Given the description of an element on the screen output the (x, y) to click on. 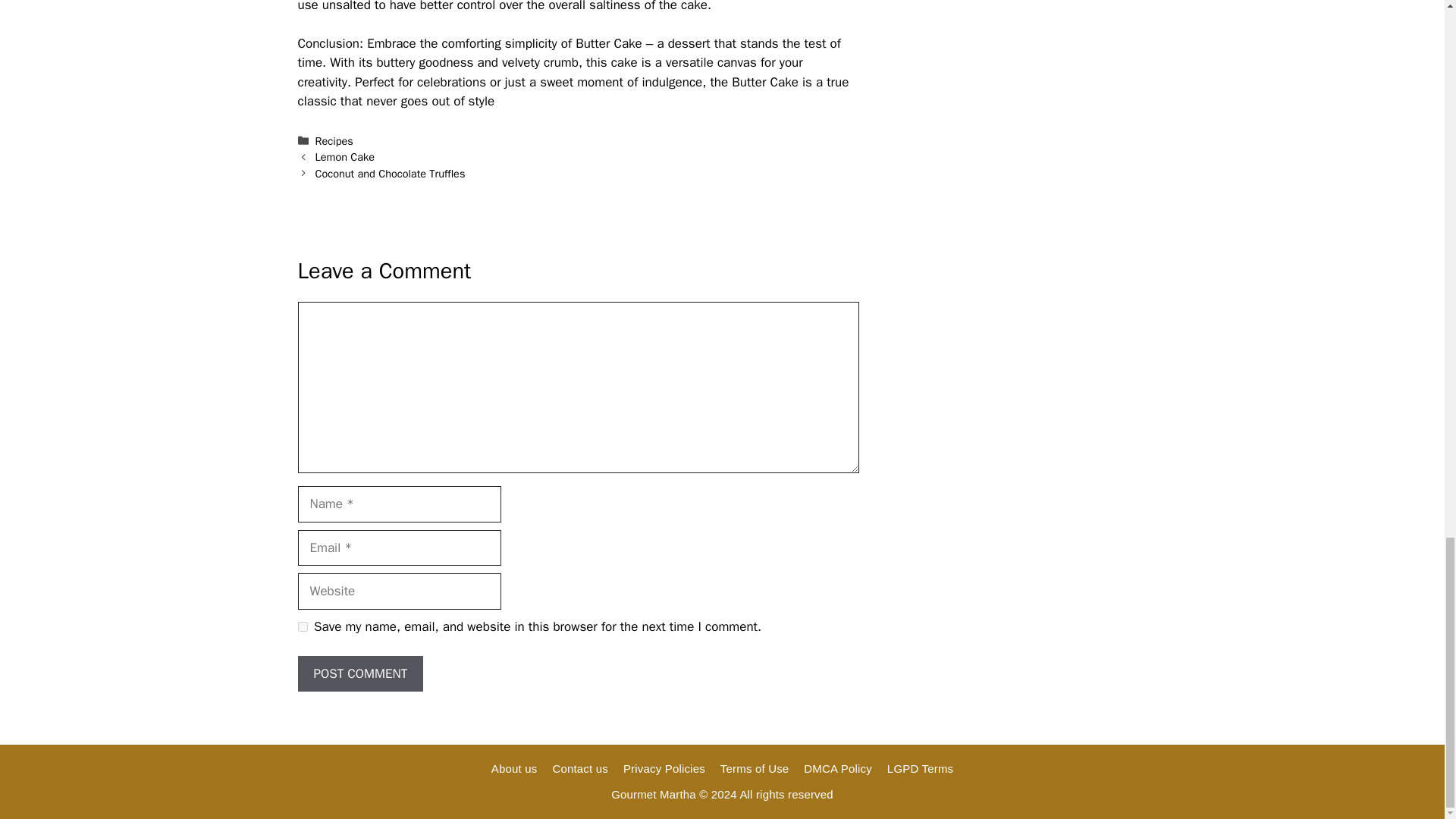
About us (514, 768)
DMCA Policy (837, 768)
Post Comment (360, 674)
LGPD Terms (919, 768)
Recipes (334, 141)
Terms of Use (754, 768)
Coconut and Chocolate Truffles (390, 173)
Privacy Policies (663, 768)
yes (302, 626)
Lemon Cake (344, 156)
